Given the description of an element on the screen output the (x, y) to click on. 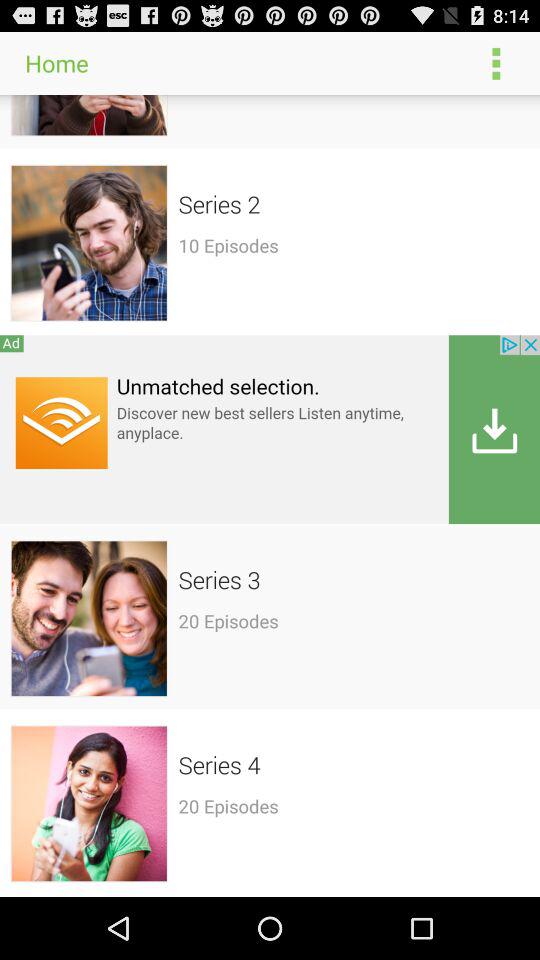
find out more (270, 428)
